Given the description of an element on the screen output the (x, y) to click on. 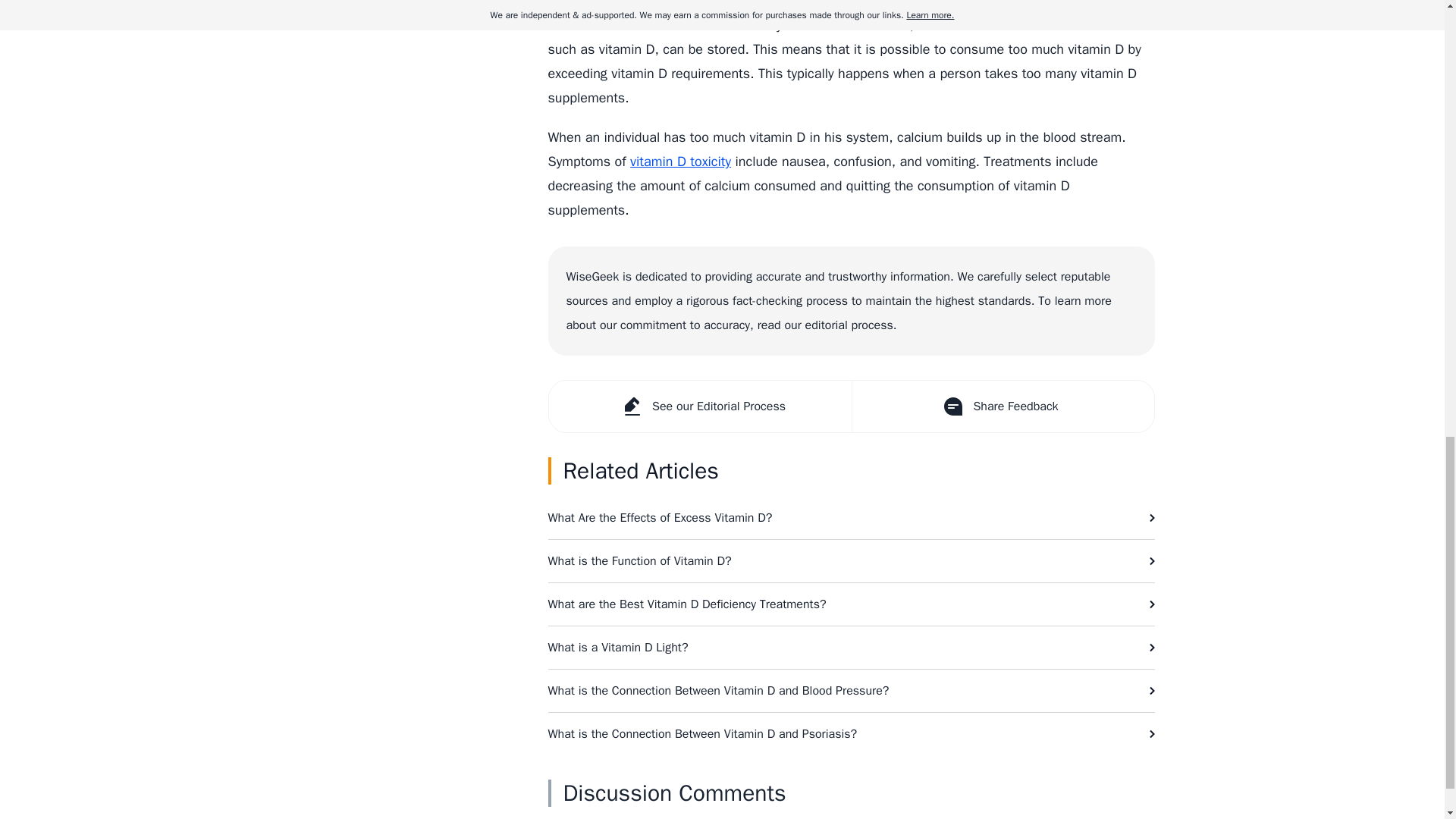
See our Editorial Process (699, 406)
What is the Function of Vitamin D? (850, 560)
What are the Best Vitamin D Deficiency Treatments? (850, 604)
Share Feedback (1001, 406)
What is the Connection Between Vitamin D and Psoriasis? (850, 733)
What is the Connection Between Vitamin D and Blood Pressure? (850, 690)
What Are the Effects of Excess Vitamin D? (850, 517)
What is a Vitamin D Light? (850, 647)
vitamin D toxicity (680, 161)
